Given the description of an element on the screen output the (x, y) to click on. 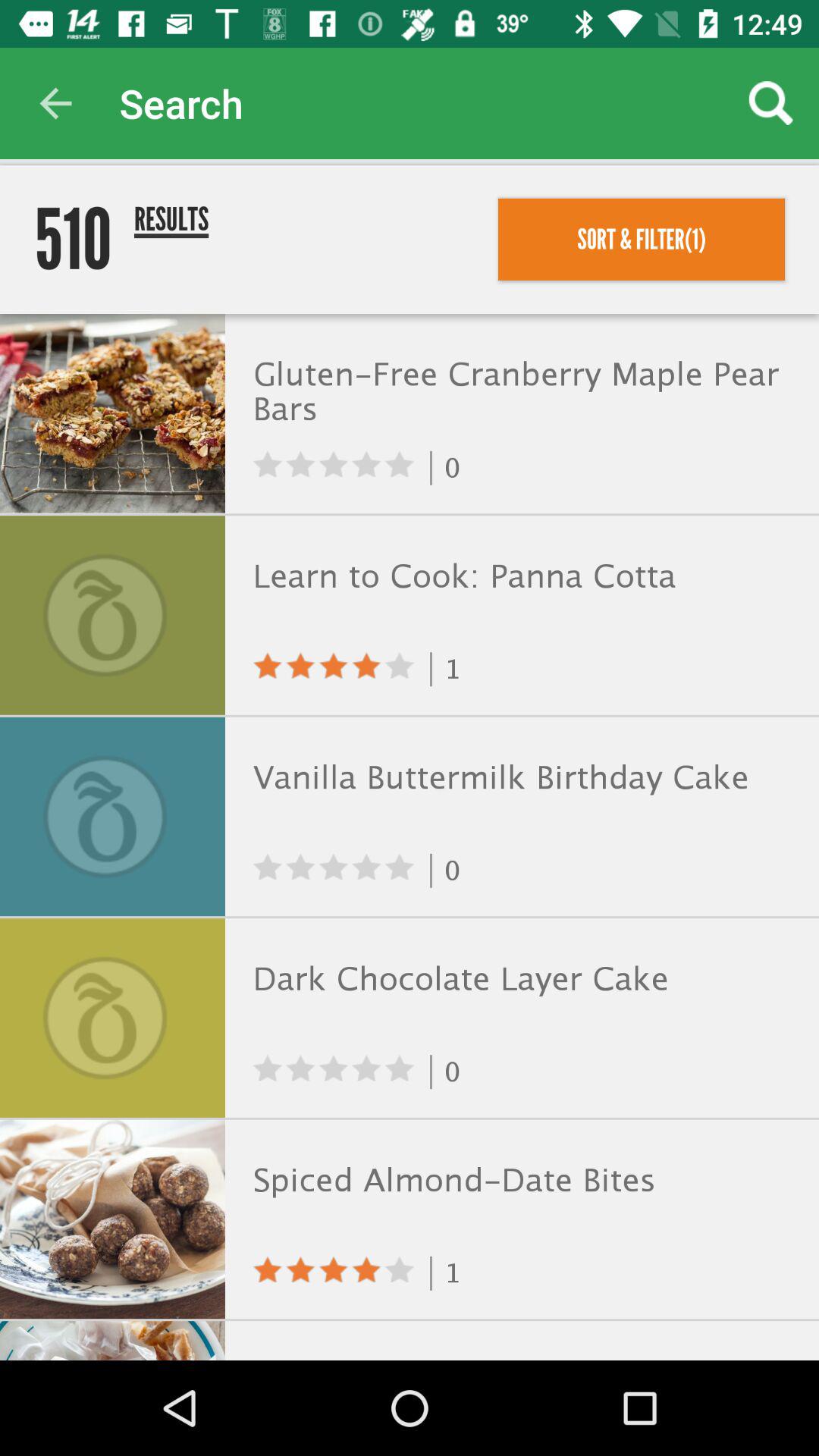
scroll to dark chocolate layer icon (518, 979)
